Given the description of an element on the screen output the (x, y) to click on. 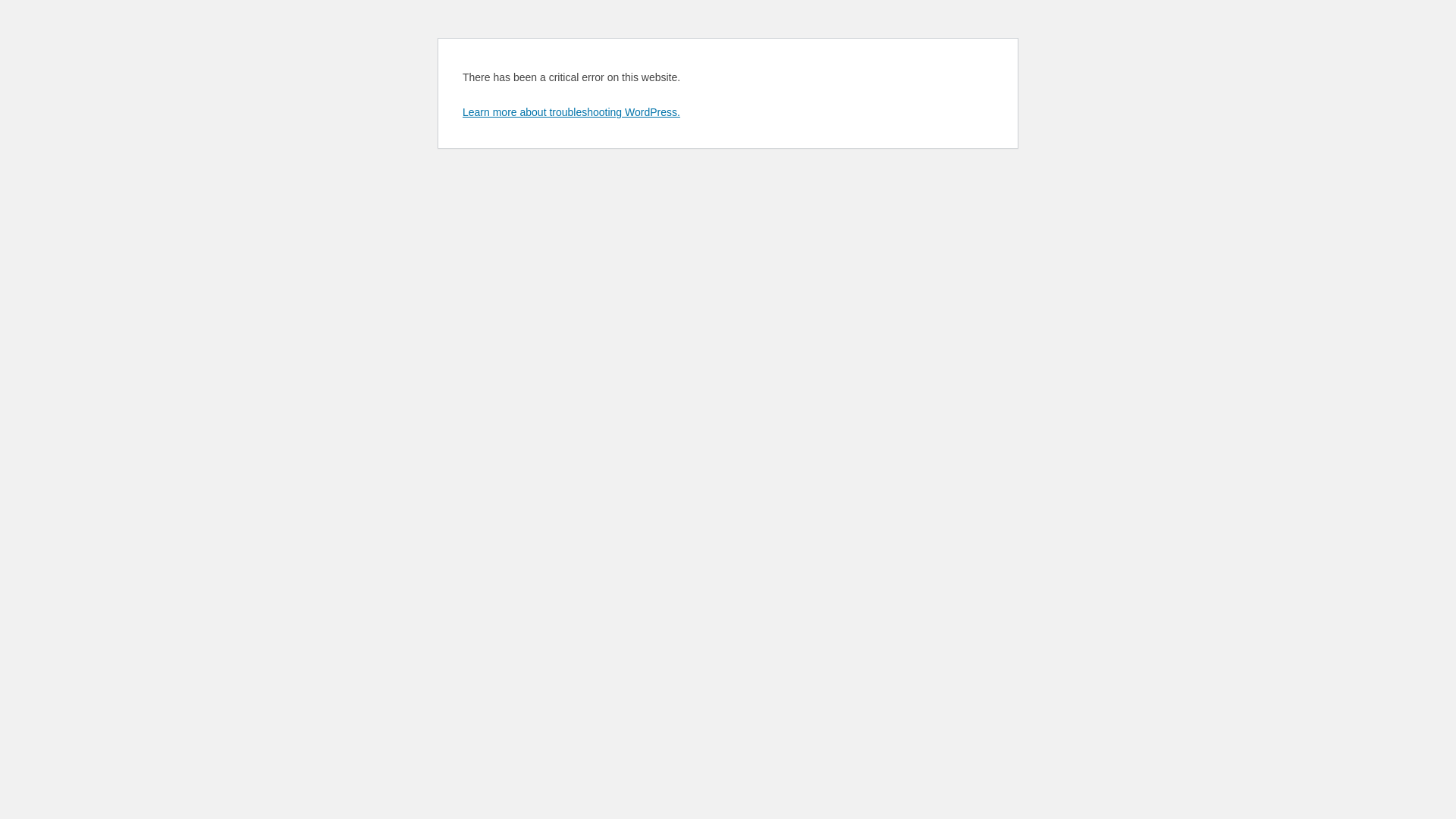
Learn more about troubleshooting WordPress. Element type: text (571, 112)
